Given the description of an element on the screen output the (x, y) to click on. 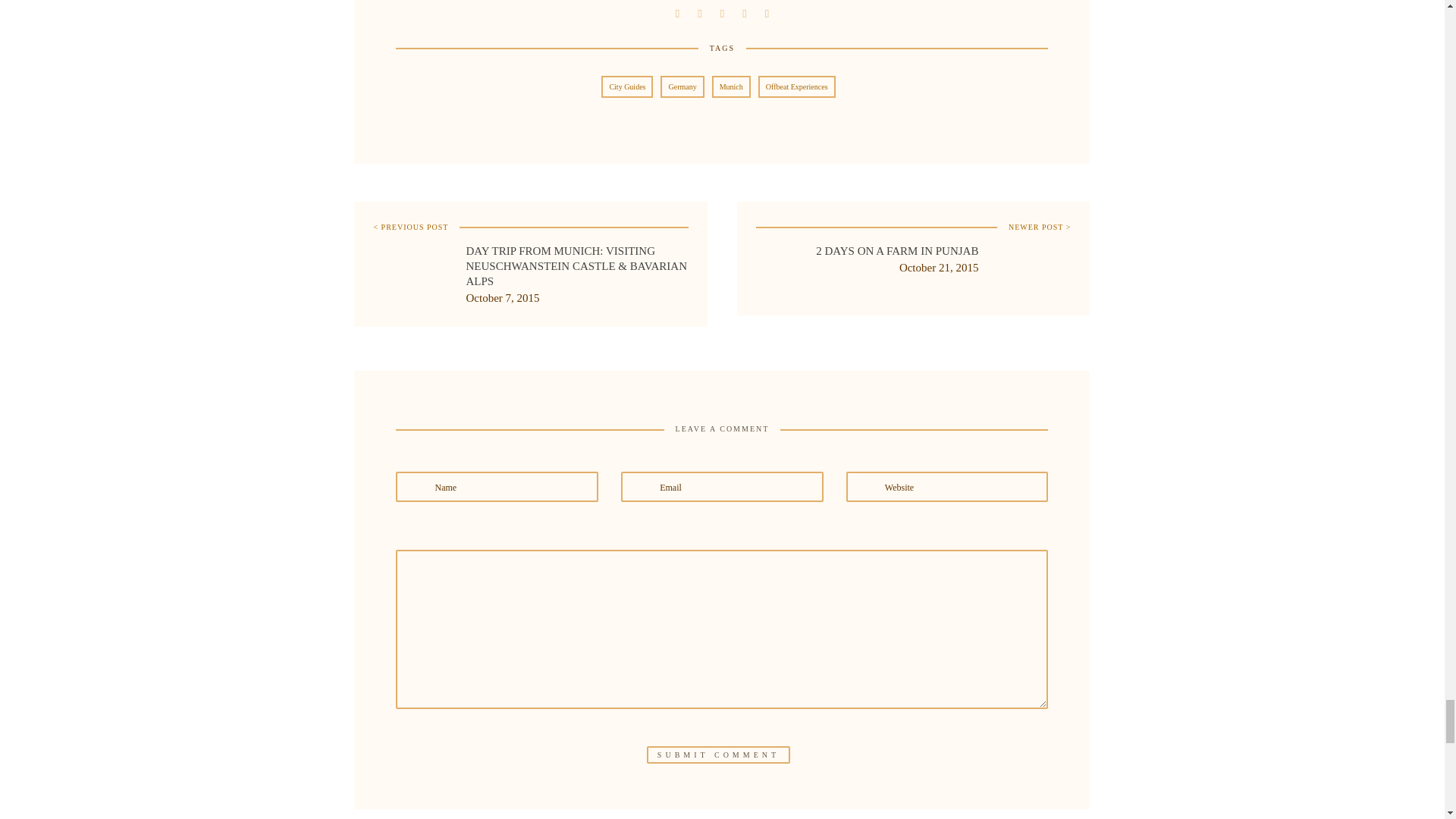
Submit Comment (718, 754)
Offbeat Munich: Top 7 Things to do in Munich (699, 10)
